Given the description of an element on the screen output the (x, y) to click on. 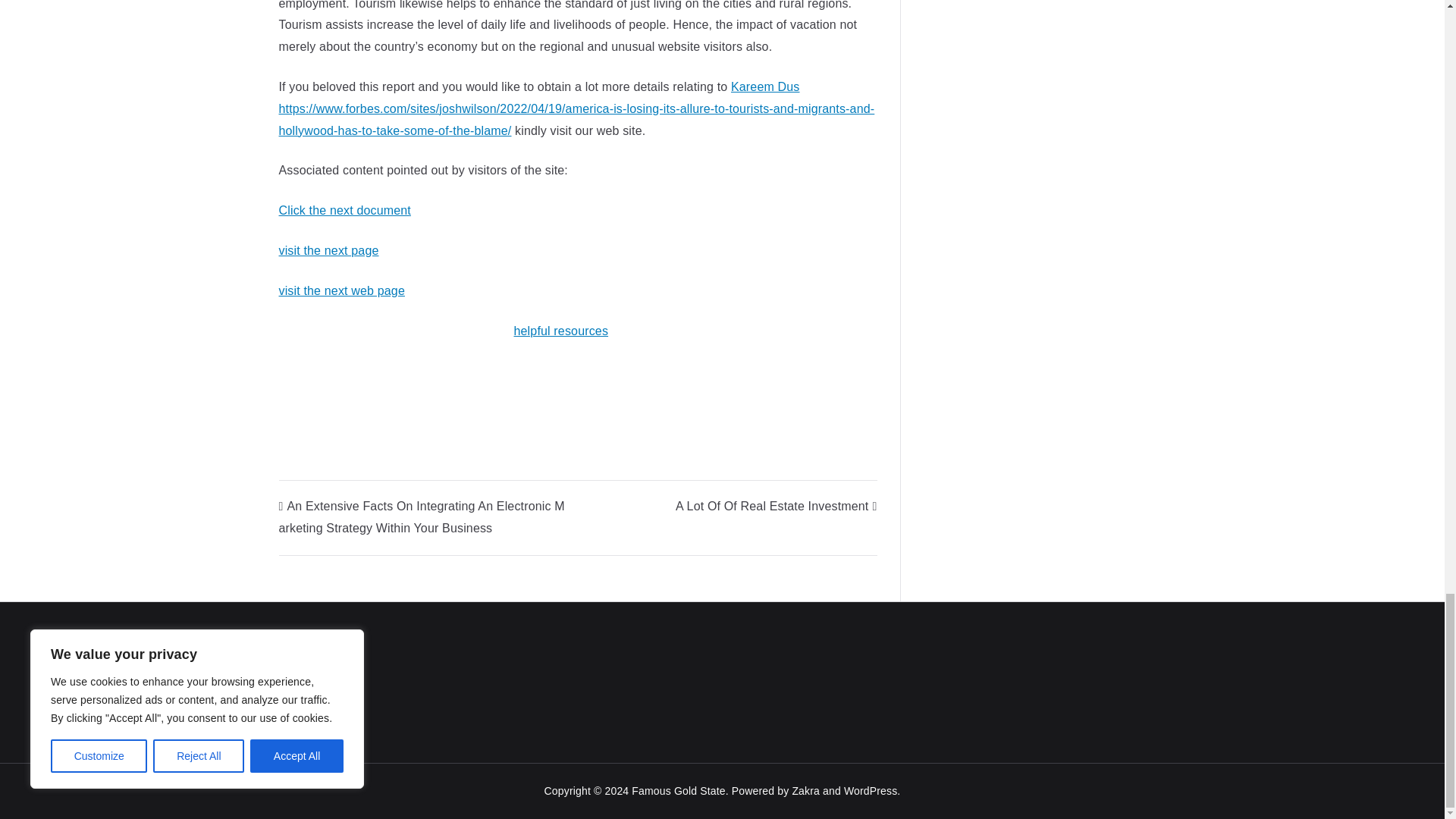
WordPress (870, 790)
visit the next page (328, 250)
Famous Gold State (678, 790)
A Lot Of Of Real Estate Investment (775, 505)
visit the next web page (341, 290)
Click the next document (344, 210)
Zakra (805, 790)
helpful resources (560, 330)
